Given the description of an element on the screen output the (x, y) to click on. 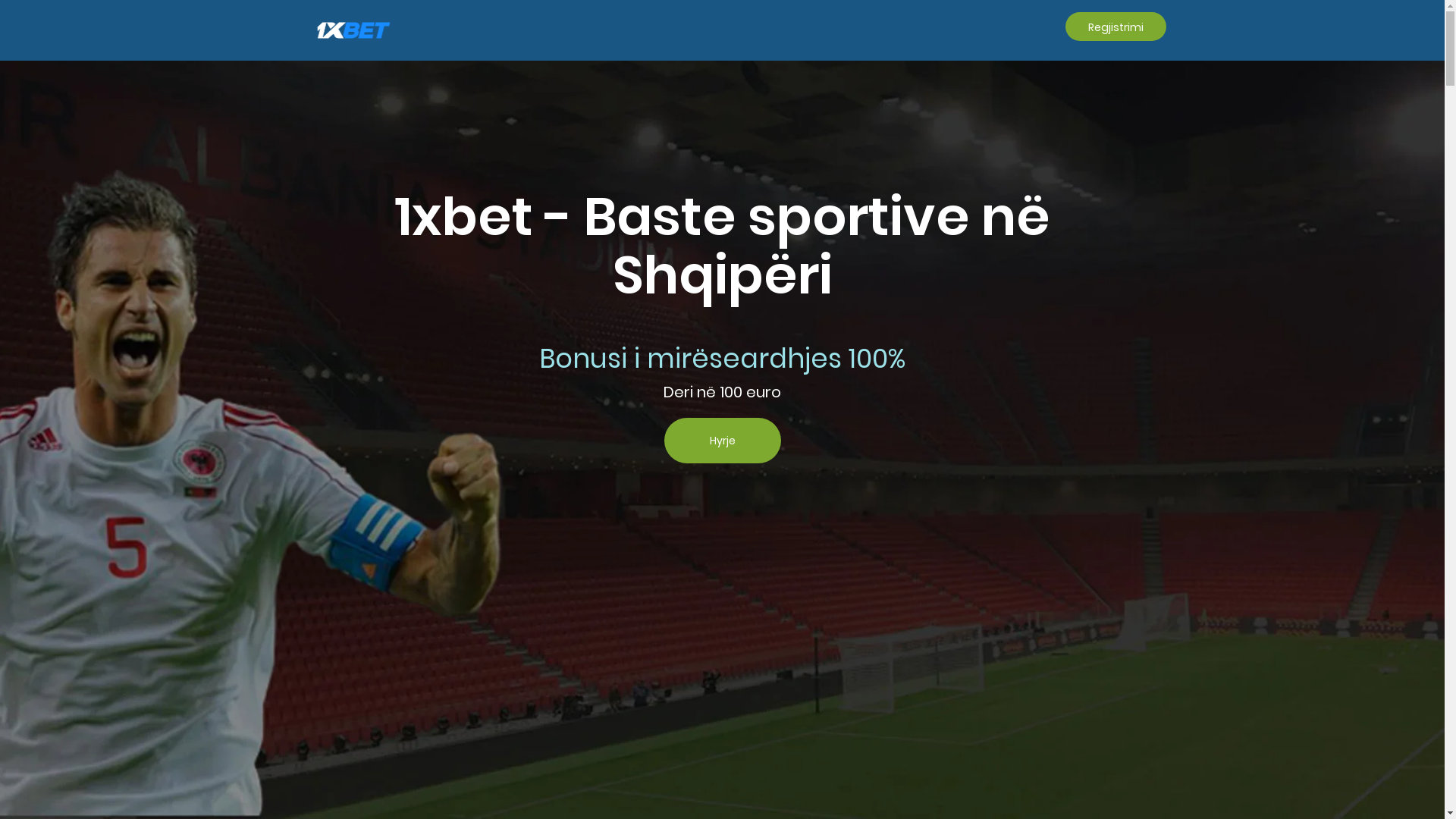
Hyrje Element type: text (722, 440)
Regjistrimi Element type: text (1114, 26)
